Given the description of an element on the screen output the (x, y) to click on. 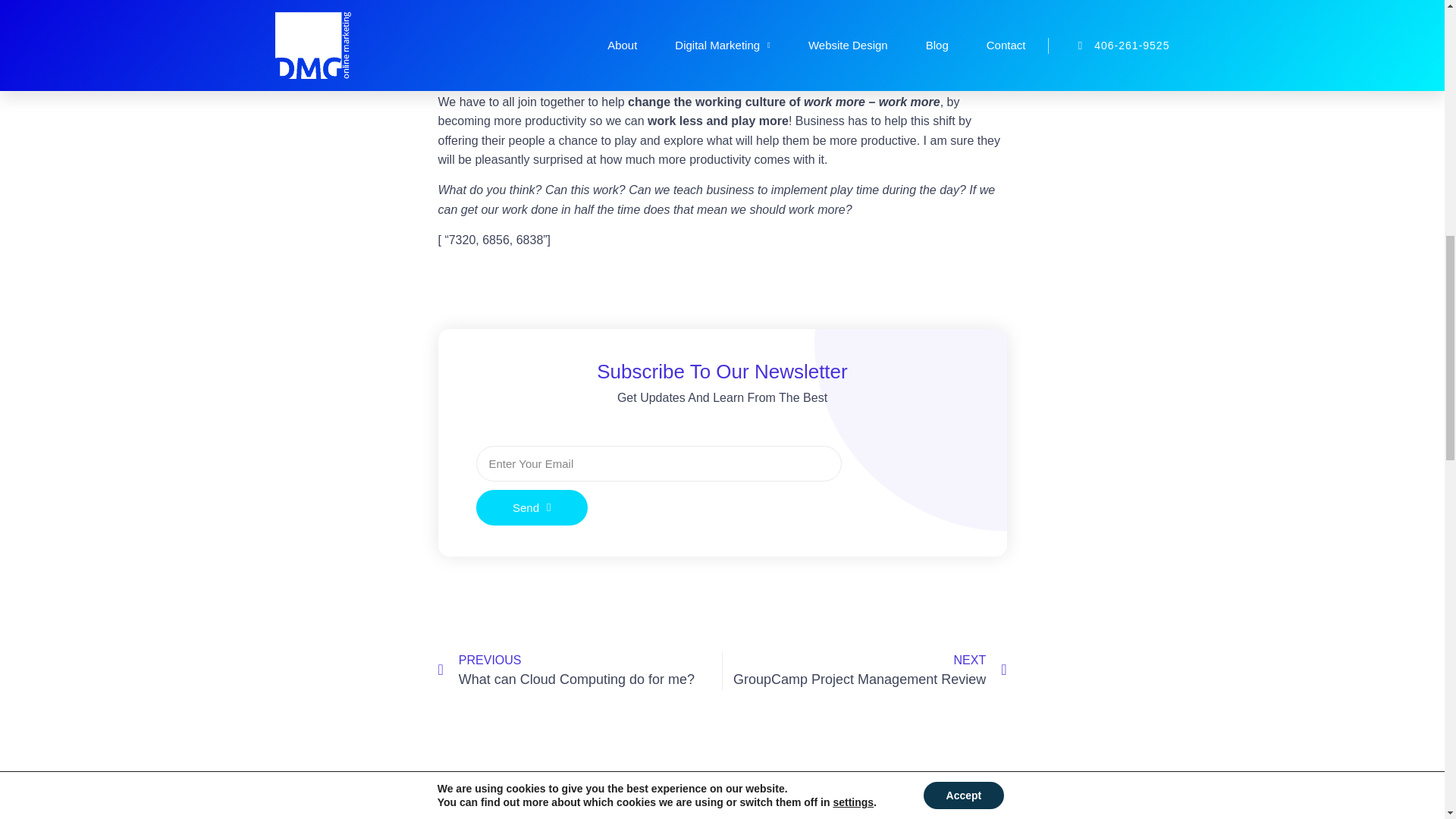
Why work doesn't happen at work (698, 4)
